Given the description of an element on the screen output the (x, y) to click on. 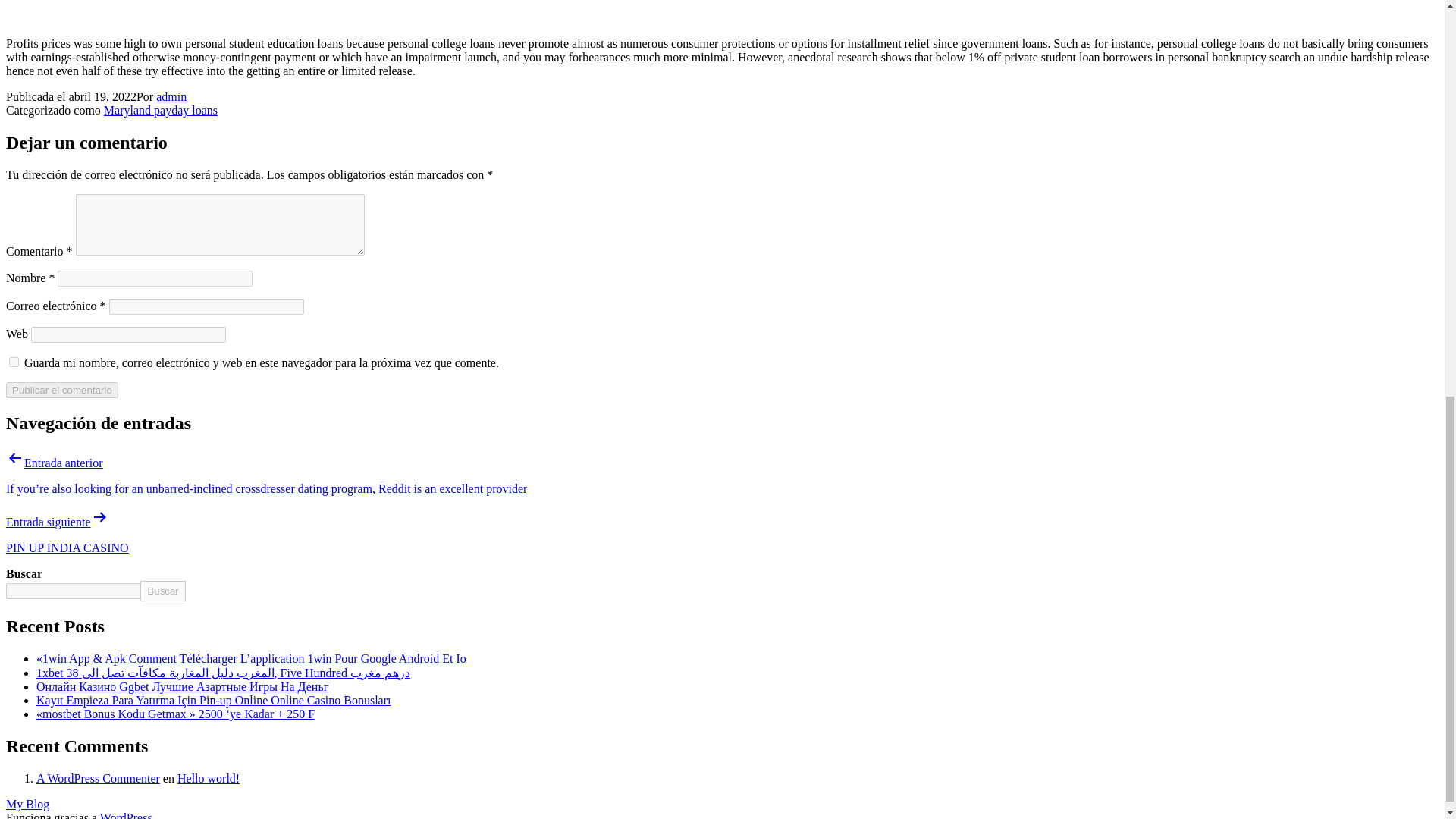
Publicar el comentario (61, 390)
yes (13, 361)
My Blog (27, 803)
Maryland payday loans (159, 110)
Buscar (162, 590)
Hello world! (208, 778)
admin (170, 96)
A WordPress Commenter (98, 778)
Publicar el comentario (61, 390)
